Given the description of an element on the screen output the (x, y) to click on. 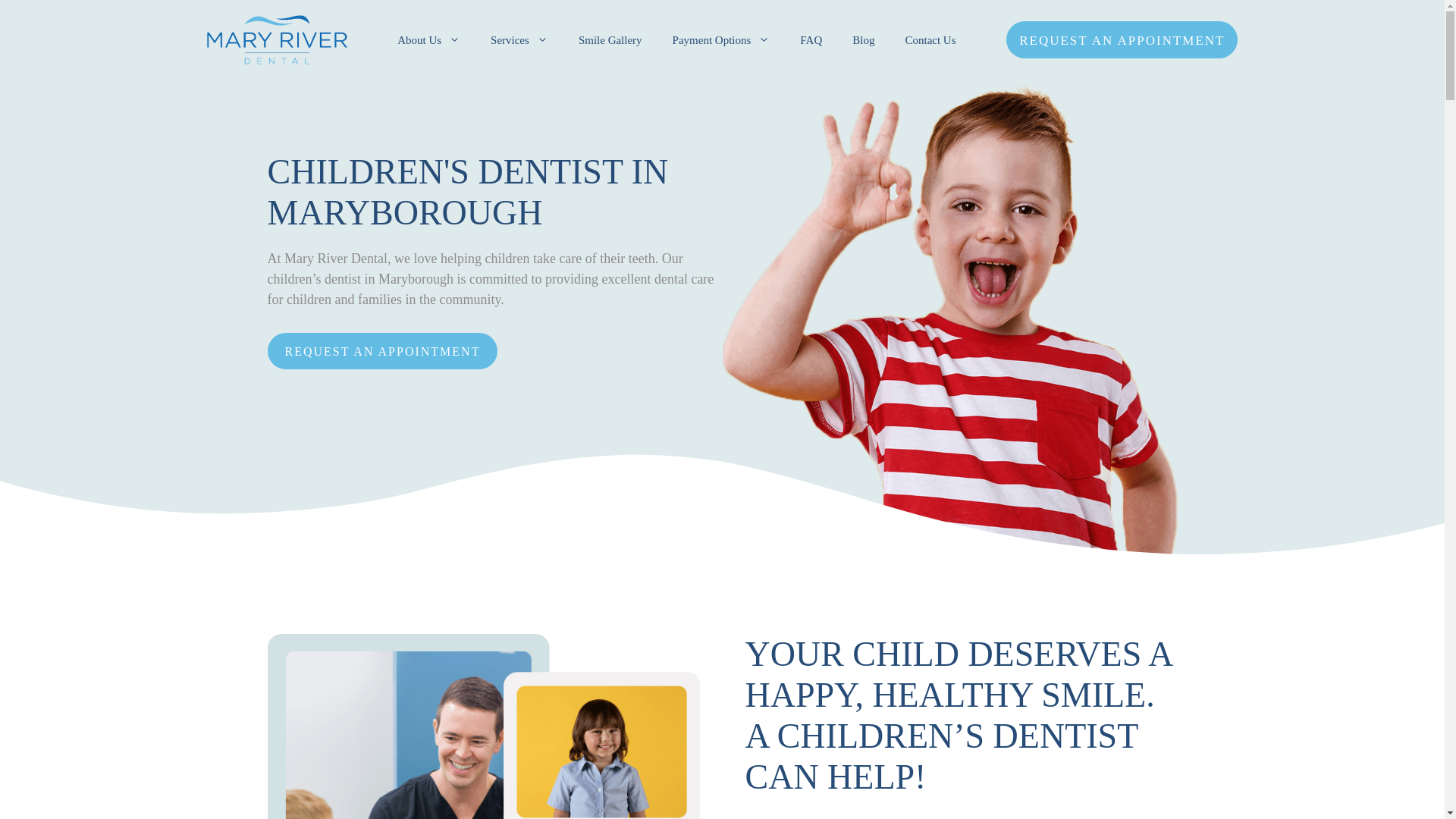
About Us (428, 40)
Services (519, 40)
